Given the description of an element on the screen output the (x, y) to click on. 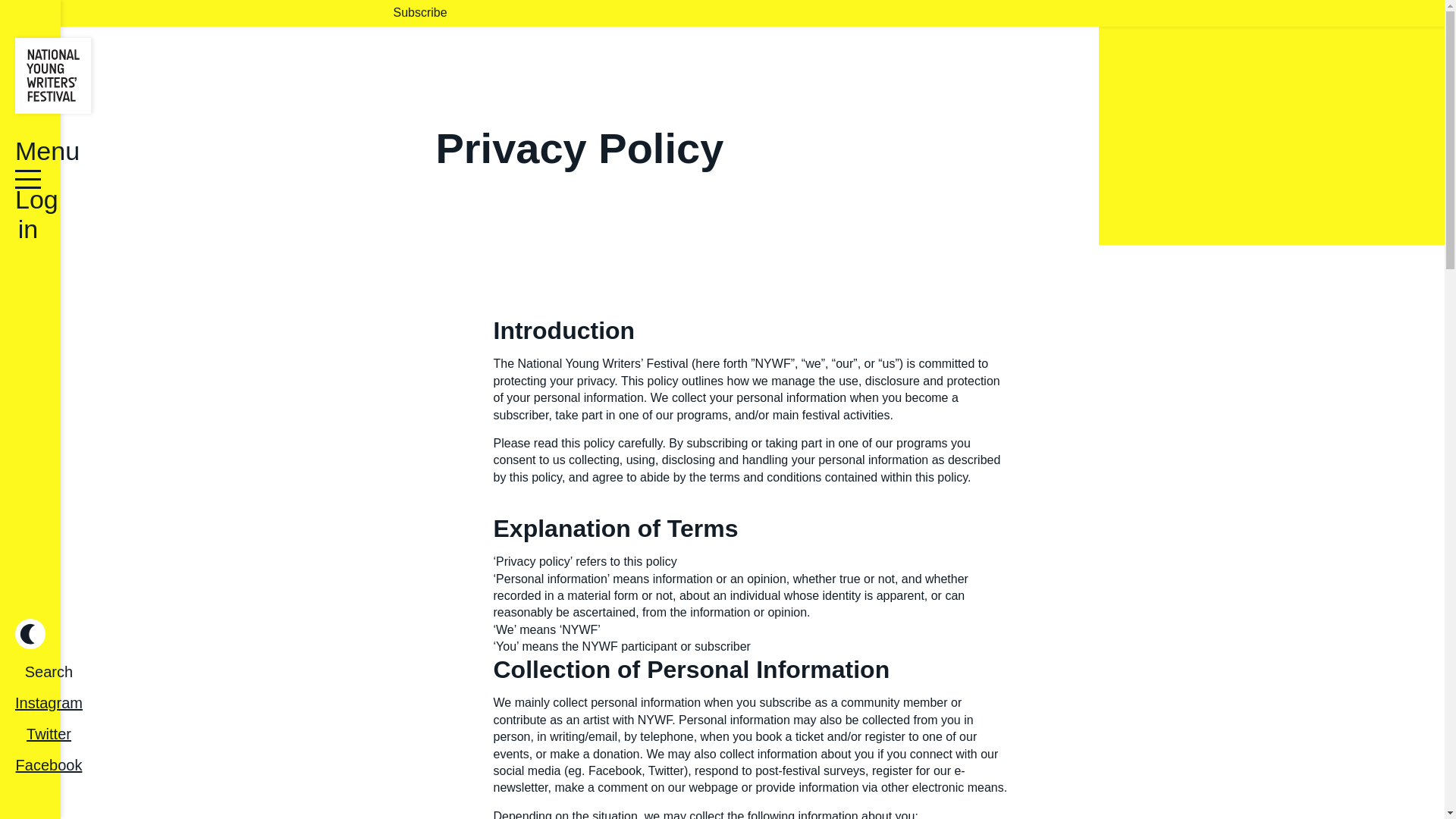
Instagram (48, 702)
Login (636, 496)
Twitter (48, 733)
Search (48, 671)
Instagram (48, 702)
Twitter (48, 733)
Log in (27, 197)
Facebook (49, 764)
Search (48, 671)
Subscribe (419, 13)
